Given the description of an element on the screen output the (x, y) to click on. 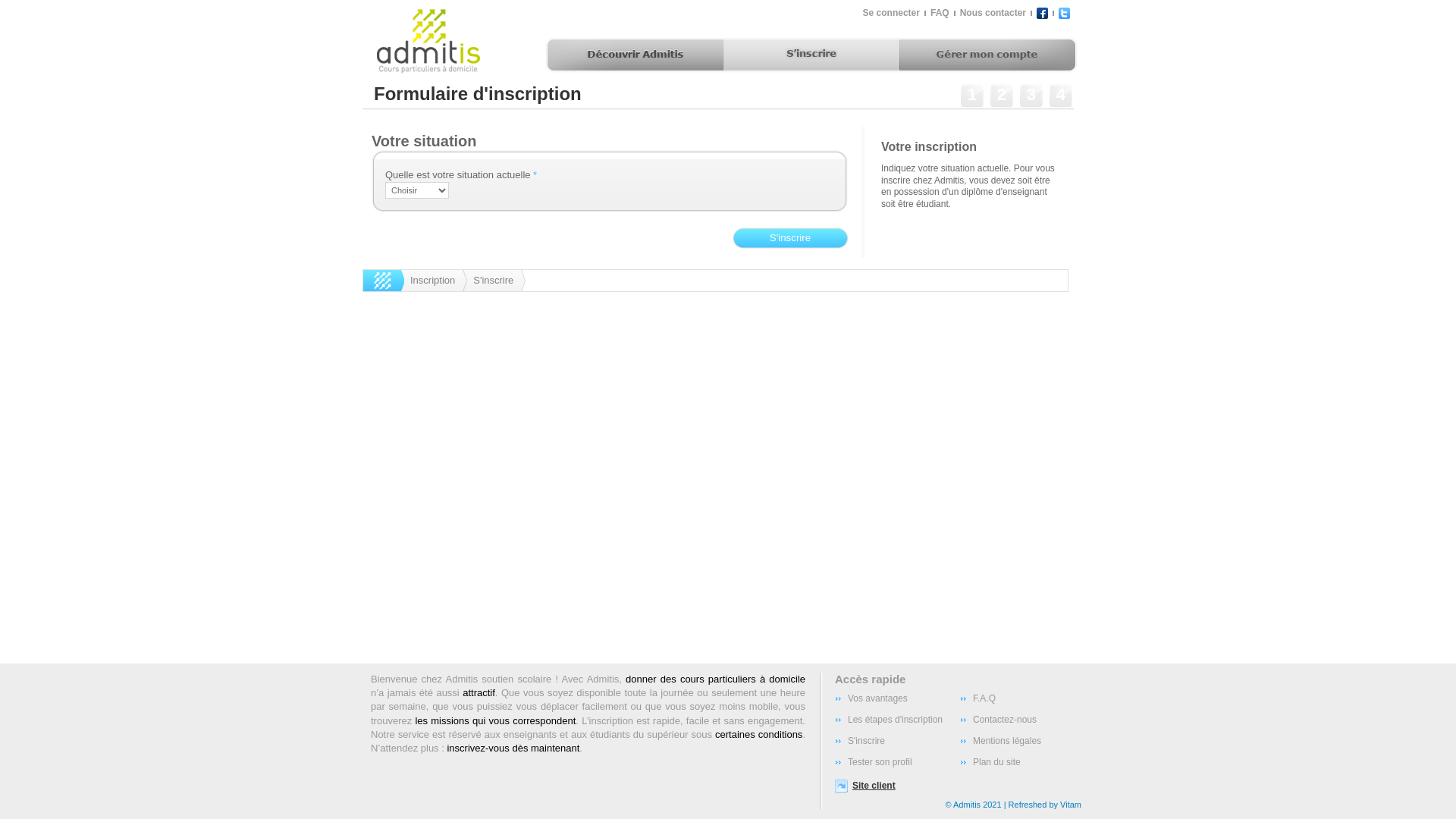
3 Element type: text (1031, 96)
Se connecter Element type: text (890, 12)
4 Element type: text (1060, 96)
Contactez-nous Element type: text (1022, 719)
Nous contacter Element type: text (991, 12)
attractif Element type: text (478, 692)
Inscription Element type: text (435, 280)
FAQ Element type: text (938, 12)
certaines conditions Element type: text (758, 734)
2 Element type: text (1001, 96)
1 Element type: text (972, 96)
Plan du site Element type: text (1022, 761)
Site client Element type: text (881, 785)
Admitis 2021 Element type: text (977, 804)
Vos avantages Element type: text (897, 698)
Tester son profil Element type: text (897, 761)
S'inscrire Element type: text (496, 280)
S'inscrire Element type: text (789, 237)
Refreshed by Vitam Element type: text (1044, 804)
F.A.Q Element type: text (1022, 698)
home Element type: hover (383, 280)
les missions qui vous correspondent Element type: text (494, 720)
S'inscrire Element type: text (897, 740)
